Given the description of an element on the screen output the (x, y) to click on. 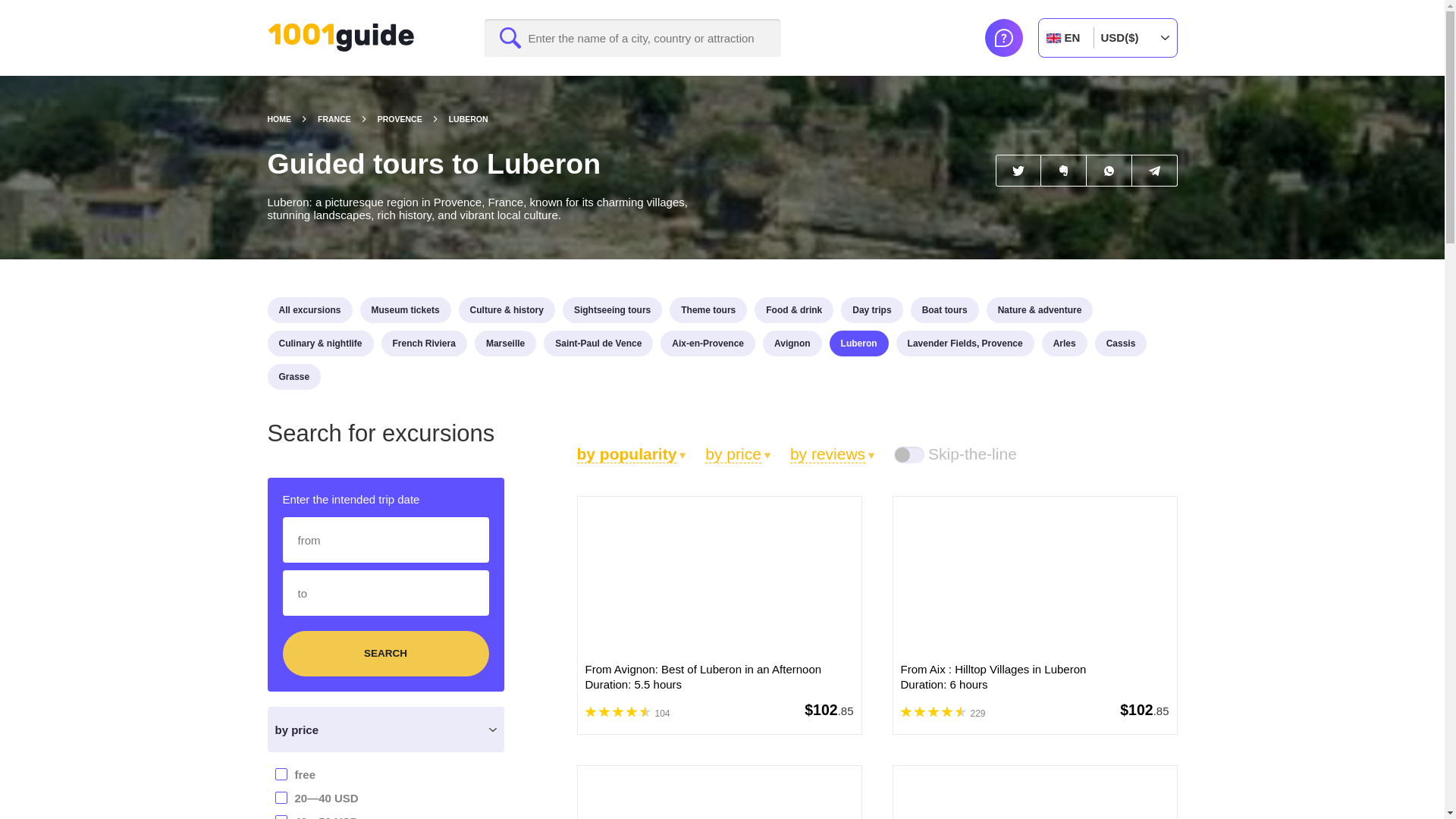
Museum tickets (405, 309)
Lavender Fields, Provence (964, 343)
All excursions (309, 309)
Aix-en-Provence (708, 343)
Help center (1003, 37)
20,40 (204, 796)
Marseille (504, 343)
HOME (291, 118)
FRANCE (347, 118)
SEARCH (384, 653)
0,0 (204, 773)
by popularity (630, 453)
French Riviera (424, 343)
PROVENCE (412, 118)
Theme tours (707, 309)
